Given the description of an element on the screen output the (x, y) to click on. 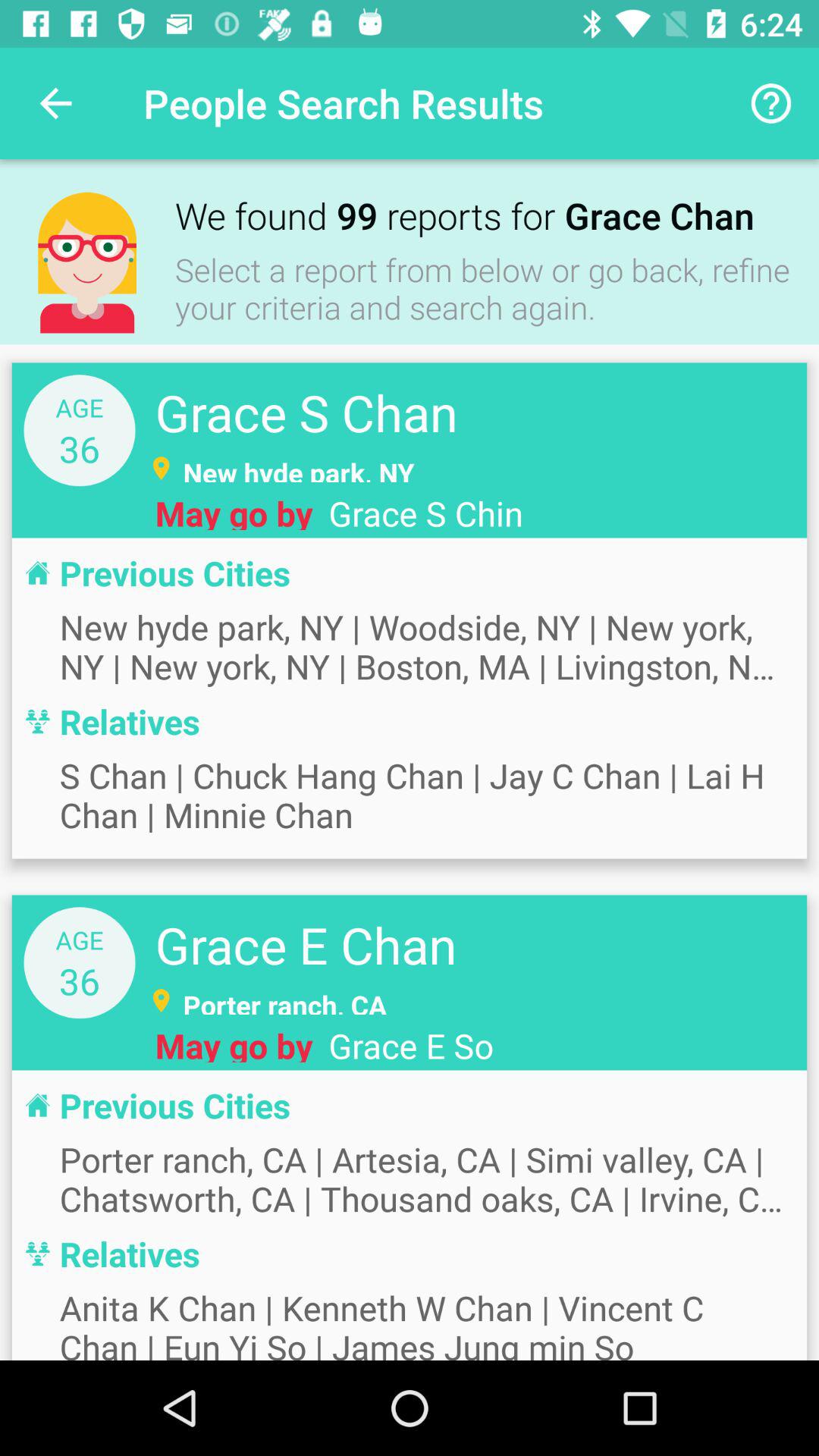
turn off the item at the top right corner (771, 103)
